Given the description of an element on the screen output the (x, y) to click on. 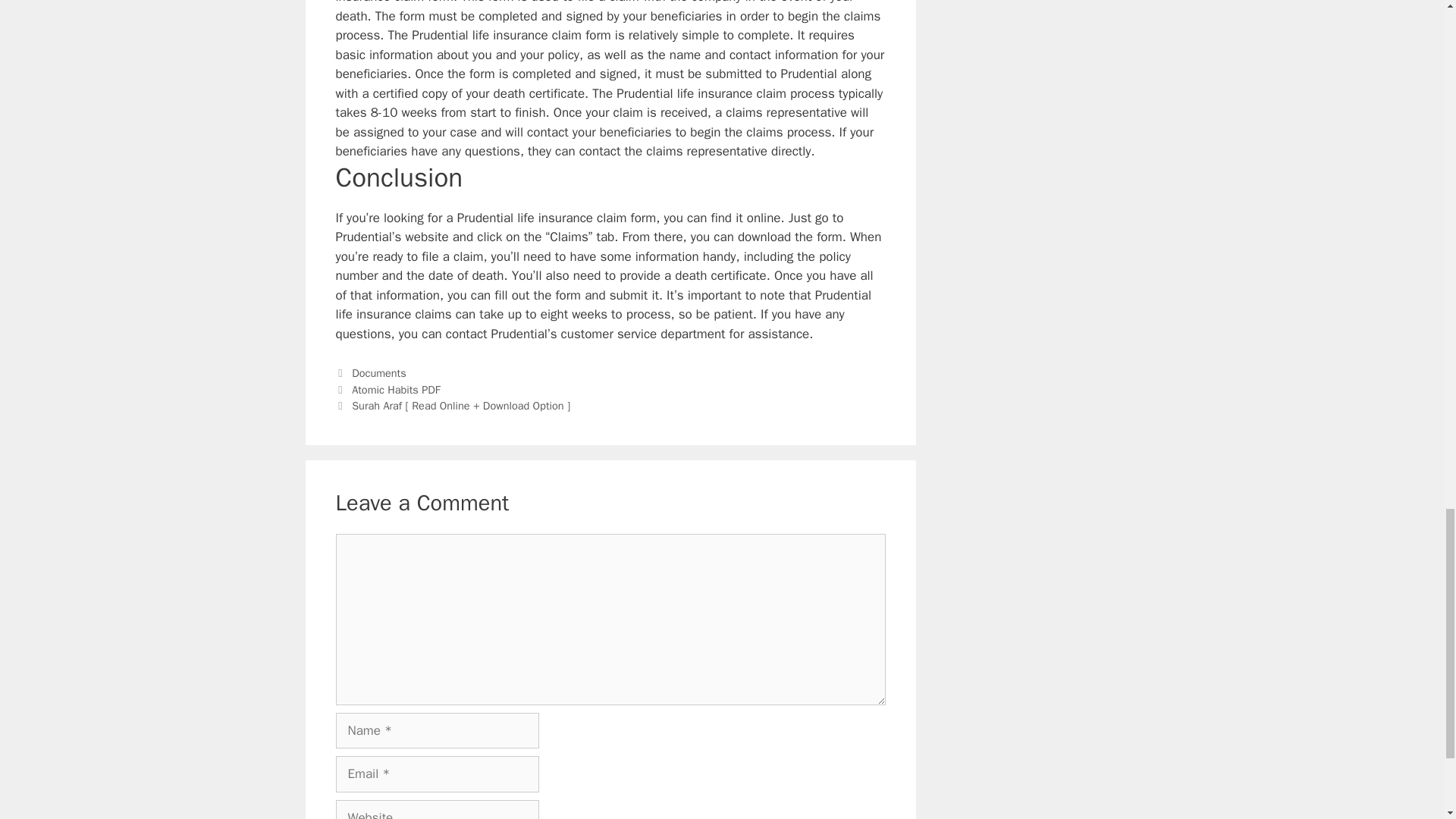
Atomic Habits PDF (396, 389)
Documents (379, 373)
